Given the description of an element on the screen output the (x, y) to click on. 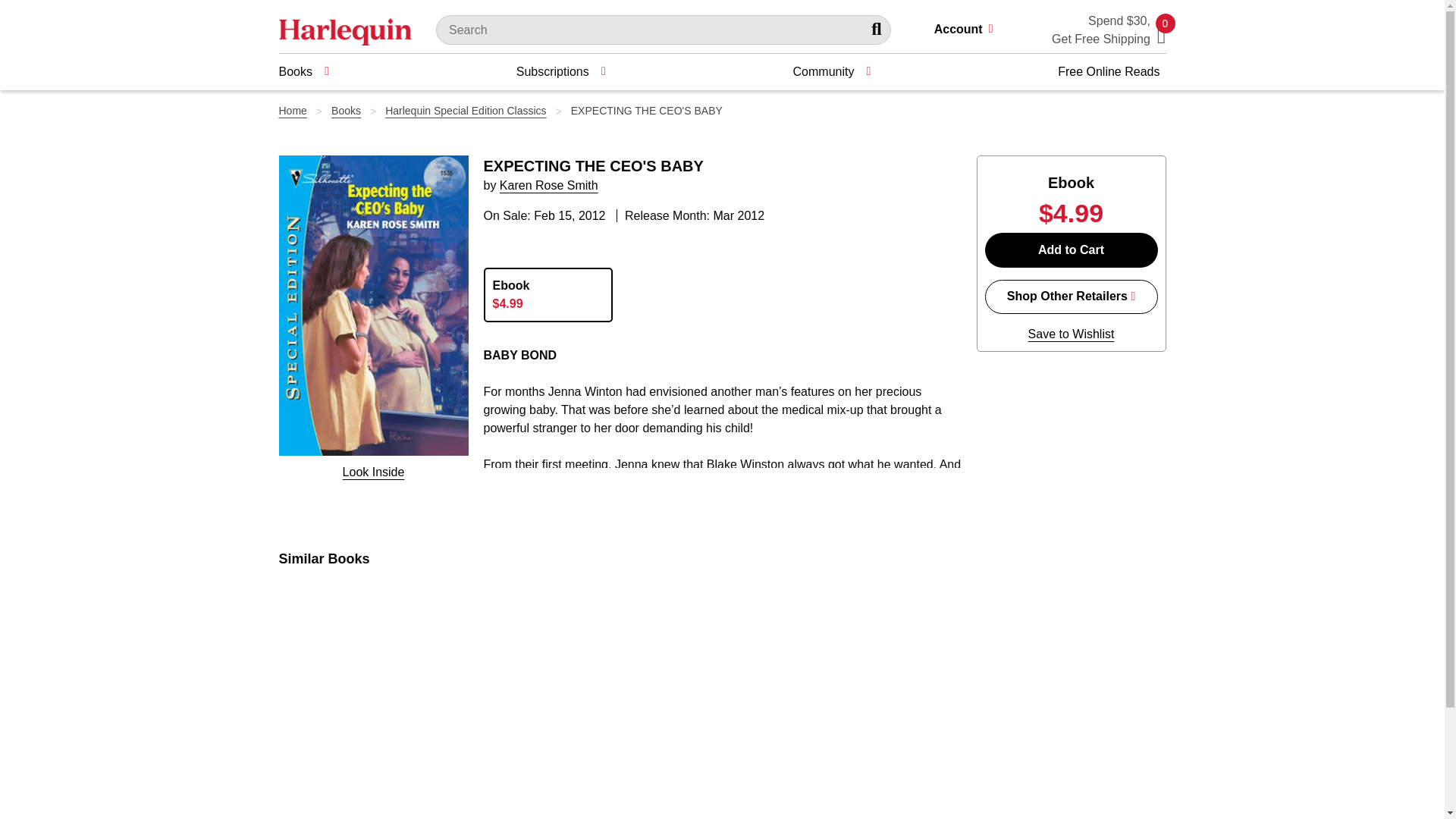
Books (304, 72)
Account (970, 30)
Harlequin home (345, 30)
Search for other content by Karen Rose Smith (548, 185)
